Given the description of an element on the screen output the (x, y) to click on. 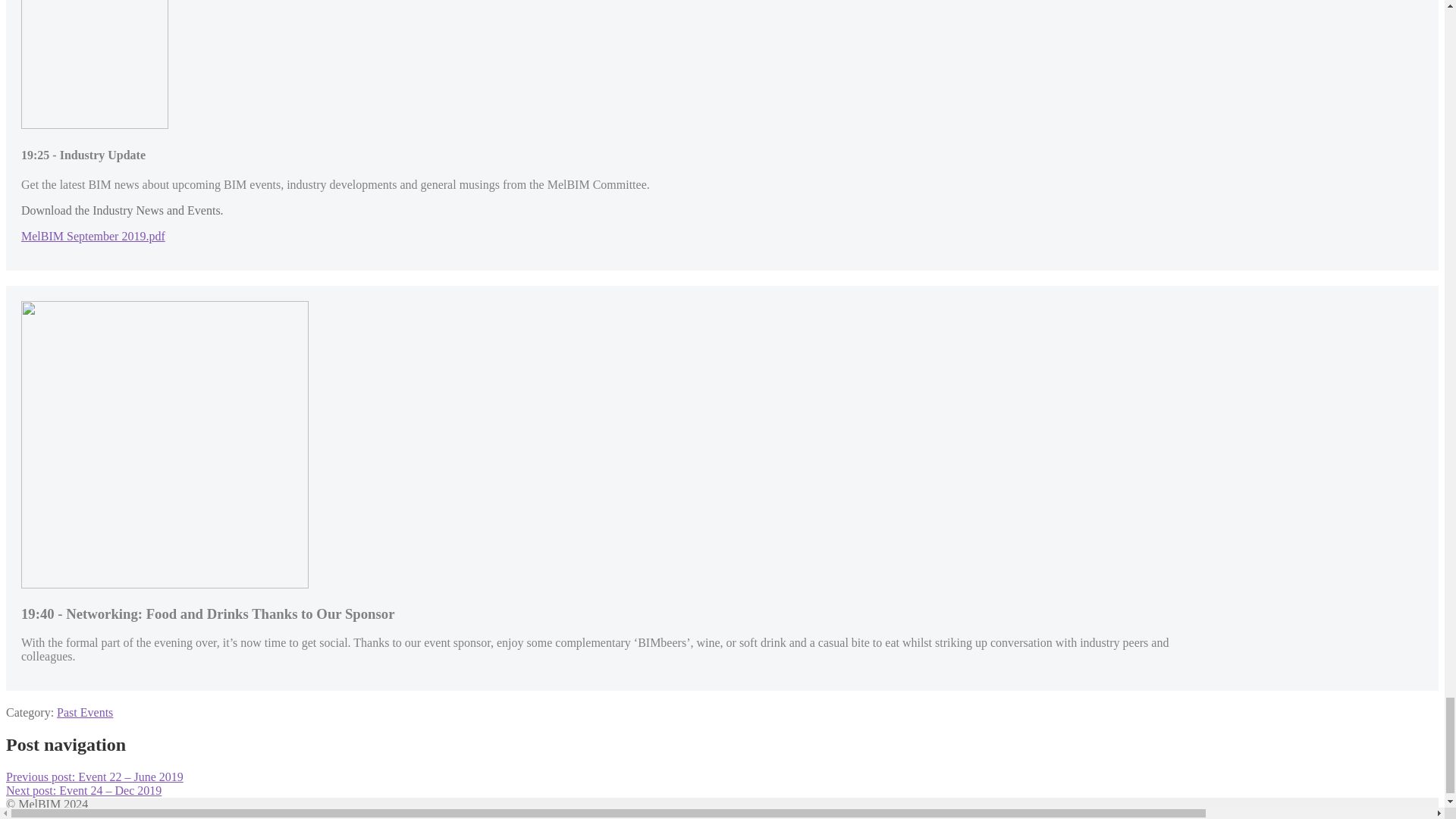
MelBIM September 2019.pdf (93, 236)
Past Events (84, 712)
